Given the description of an element on the screen output the (x, y) to click on. 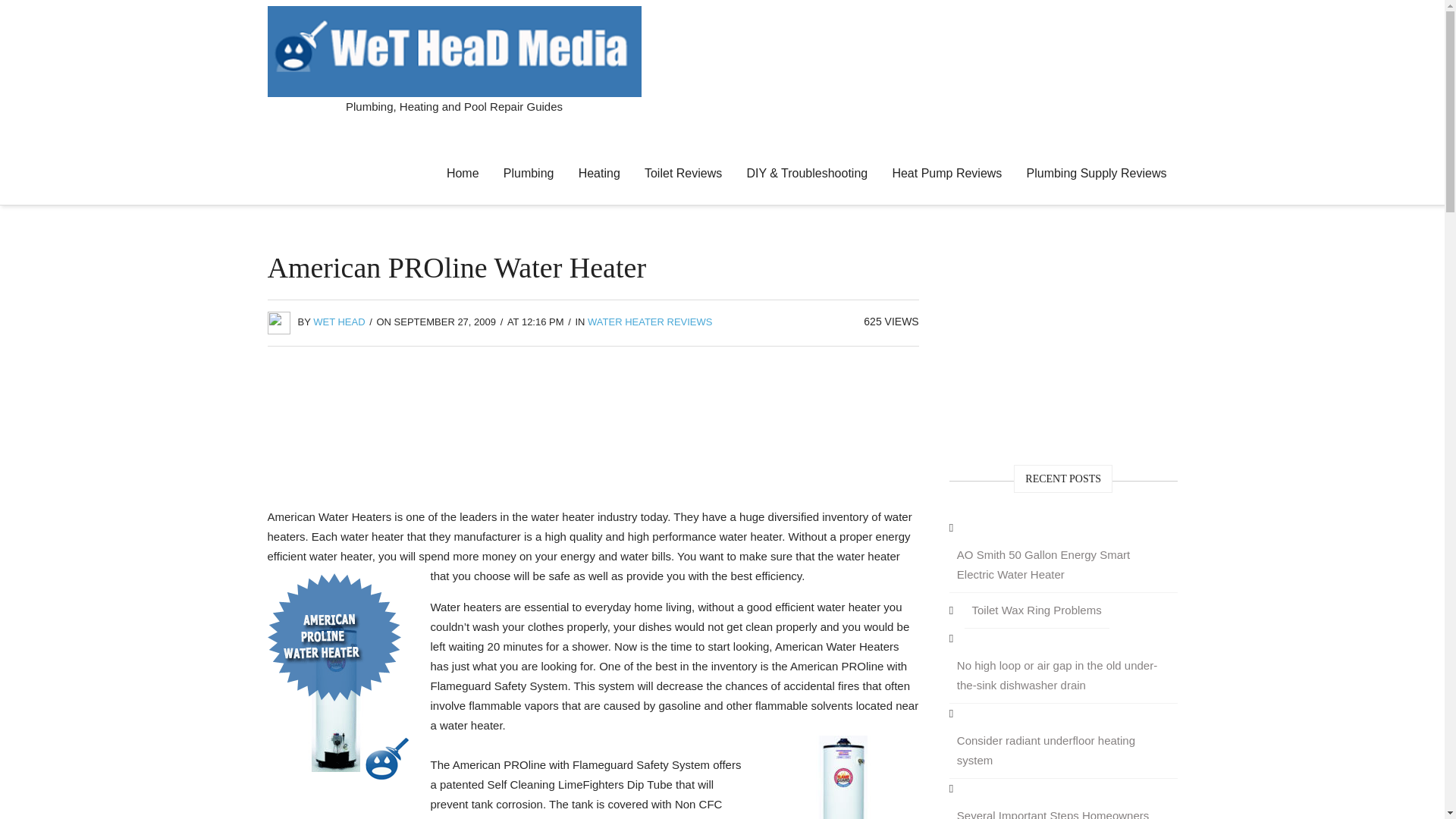
Heat Pump Reviews (945, 173)
Posts by WeT HeaD (339, 321)
Advertisement (1063, 344)
Plumbing Supply Reviews (1096, 173)
Toilet Reviews (682, 173)
Advertisement (592, 430)
American PROline Water Heater (842, 777)
Plumbing (528, 173)
Consider radiant underfloor heating system (1063, 750)
WATER HEATER REVIEWS (649, 321)
Home (462, 173)
AO Smith 50 Gallon Energy Smart Electric Water Heater (1063, 564)
Heating (598, 173)
WET HEAD (339, 321)
